Given the description of an element on the screen output the (x, y) to click on. 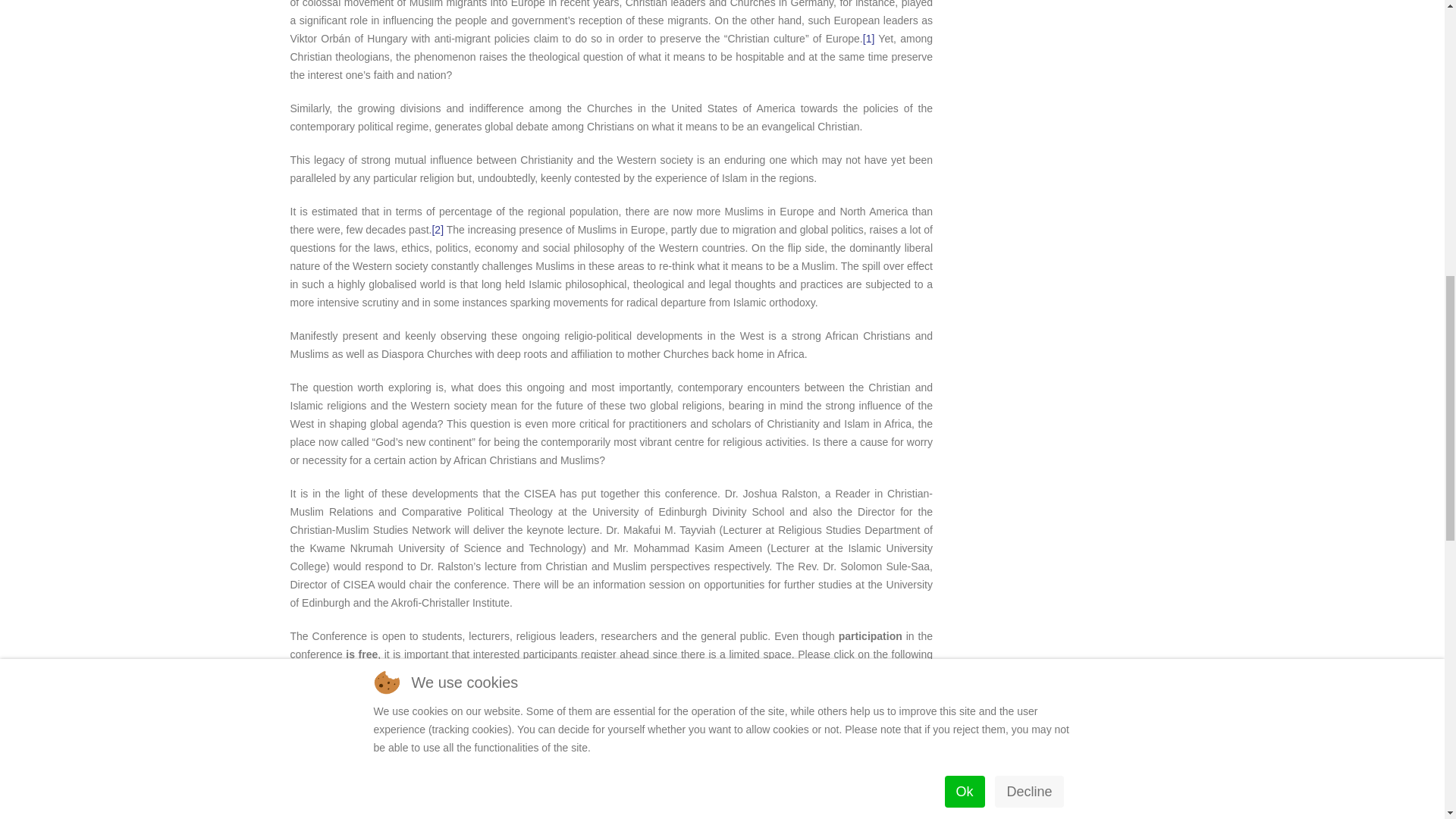
Back to Top (1403, 27)
